Given the description of an element on the screen output the (x, y) to click on. 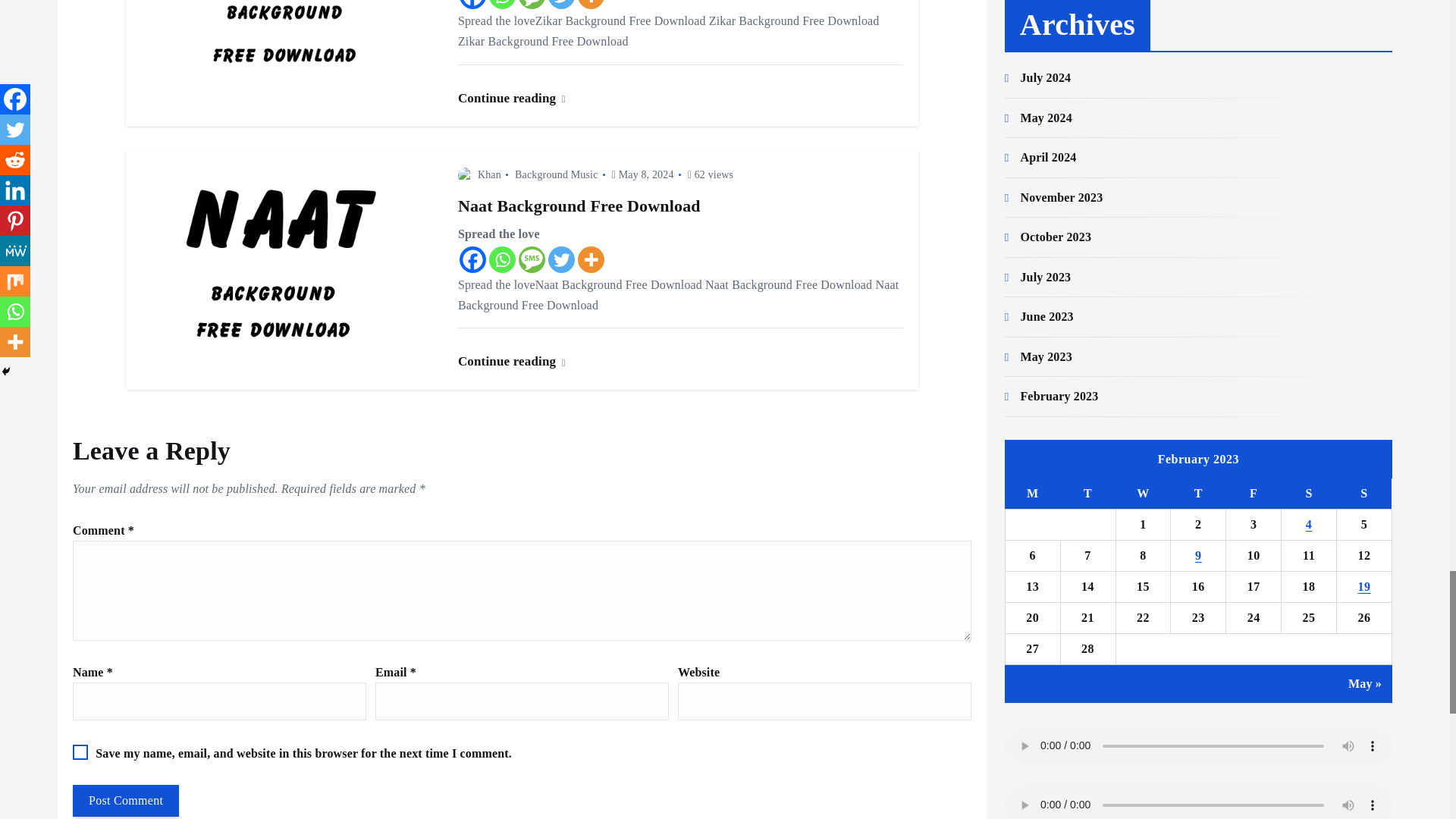
Post Comment (125, 800)
yes (79, 752)
